Given the description of an element on the screen output the (x, y) to click on. 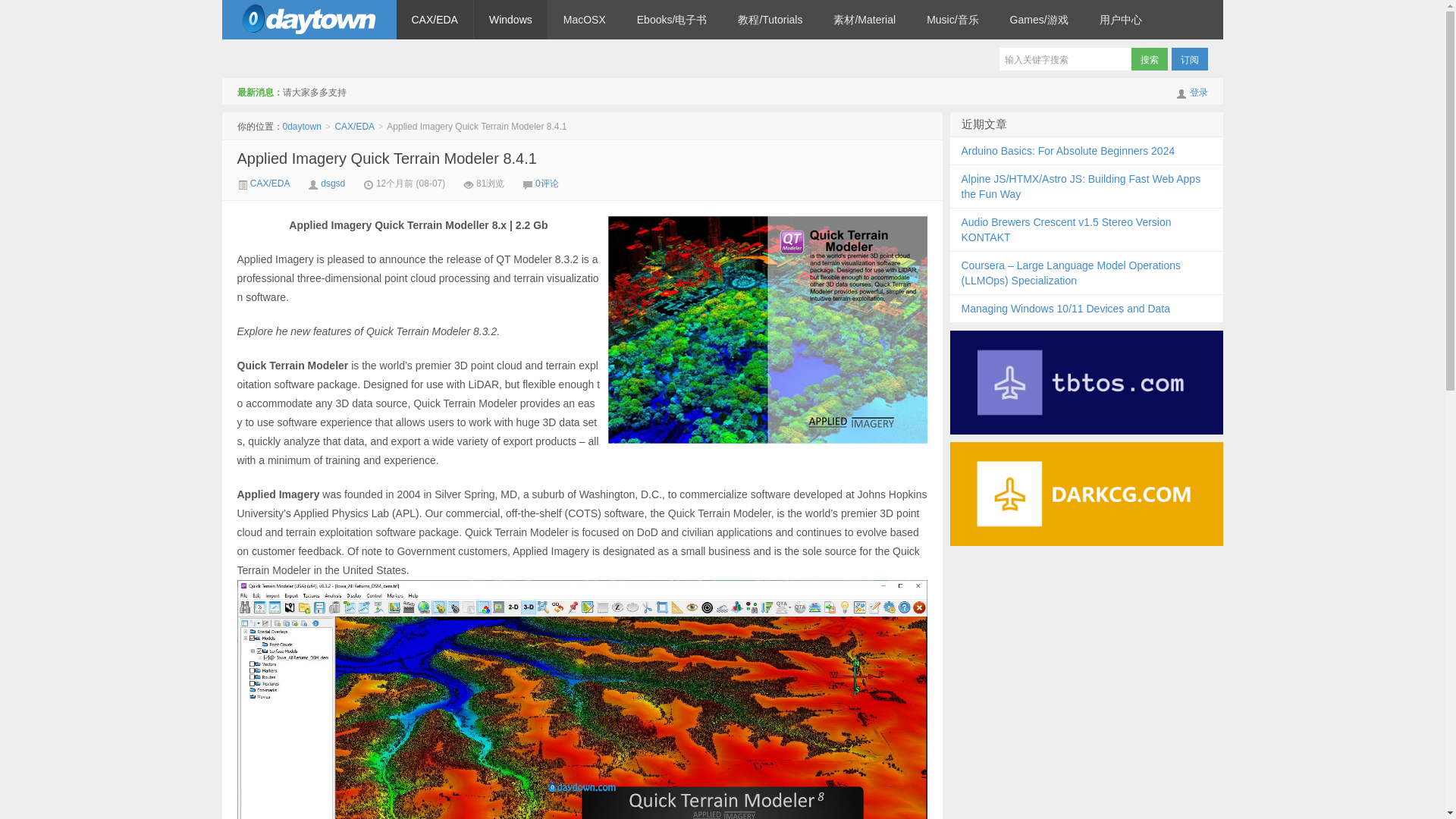
MacOSX (584, 19)
0daytown (308, 19)
Windows (510, 19)
